Given the description of an element on the screen output the (x, y) to click on. 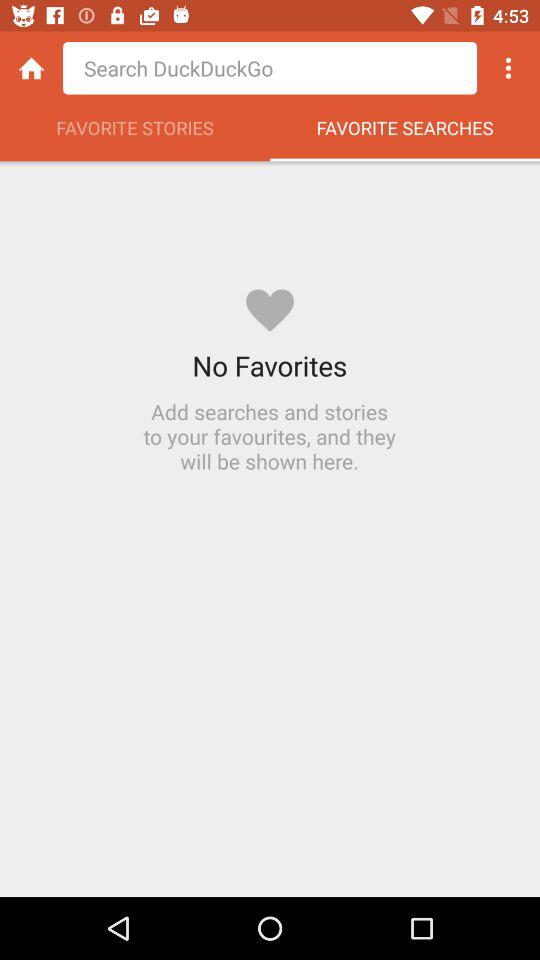
turn on the app above the favorite stories (269, 67)
